Given the description of an element on the screen output the (x, y) to click on. 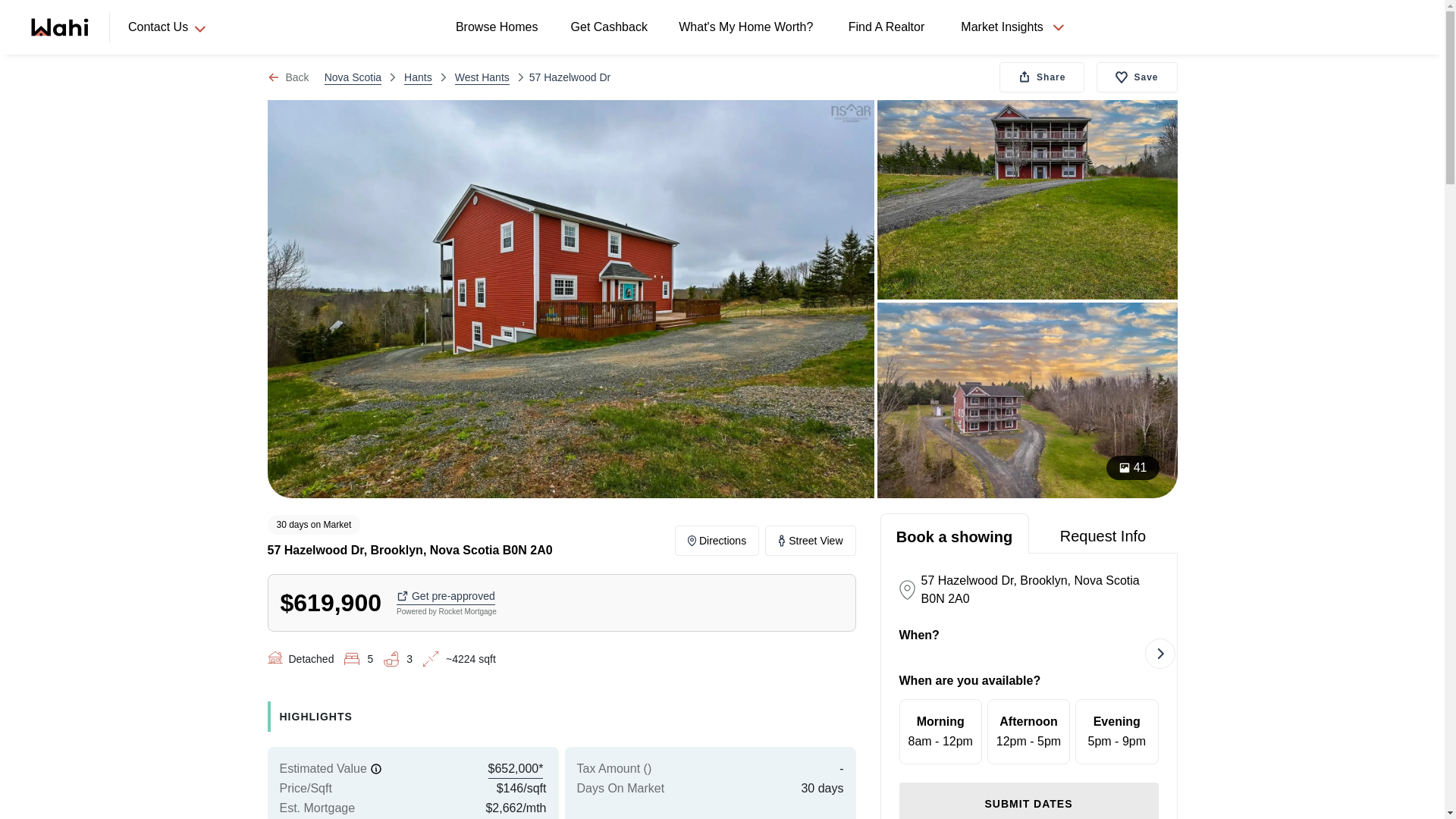
Share (1041, 77)
Get Cashback (611, 26)
Directions (1028, 731)
Market Insights (716, 540)
Market Insights (1002, 26)
Nova Scotia (940, 731)
Find A Realtor (1011, 27)
Back (352, 77)
